Given the description of an element on the screen output the (x, y) to click on. 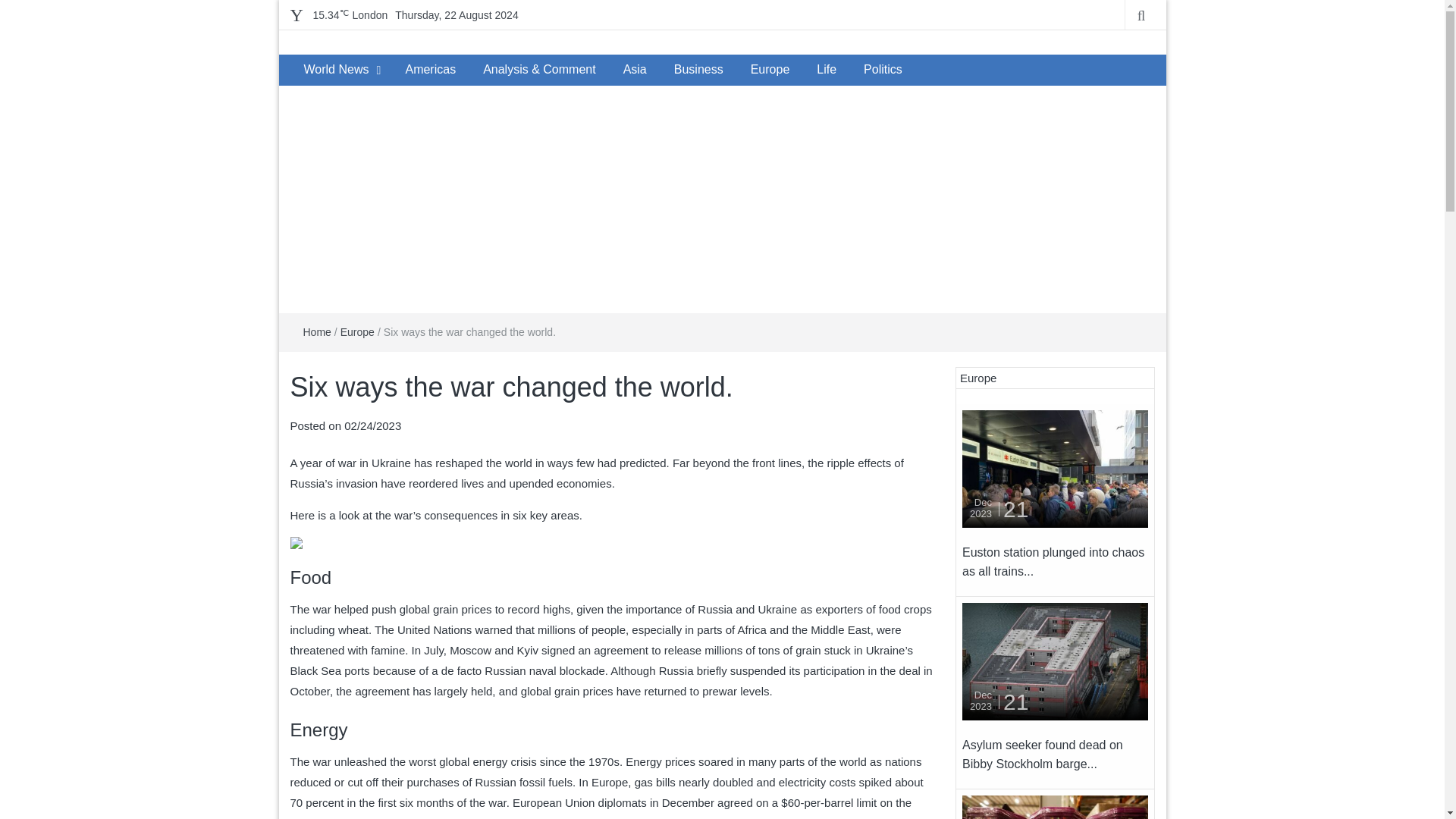
Business (698, 69)
Search (15, 6)
Europe (357, 331)
Life (826, 69)
Politics (882, 69)
Americas (429, 69)
World News (335, 69)
Europe (769, 69)
Asia (635, 69)
